Given the description of an element on the screen output the (x, y) to click on. 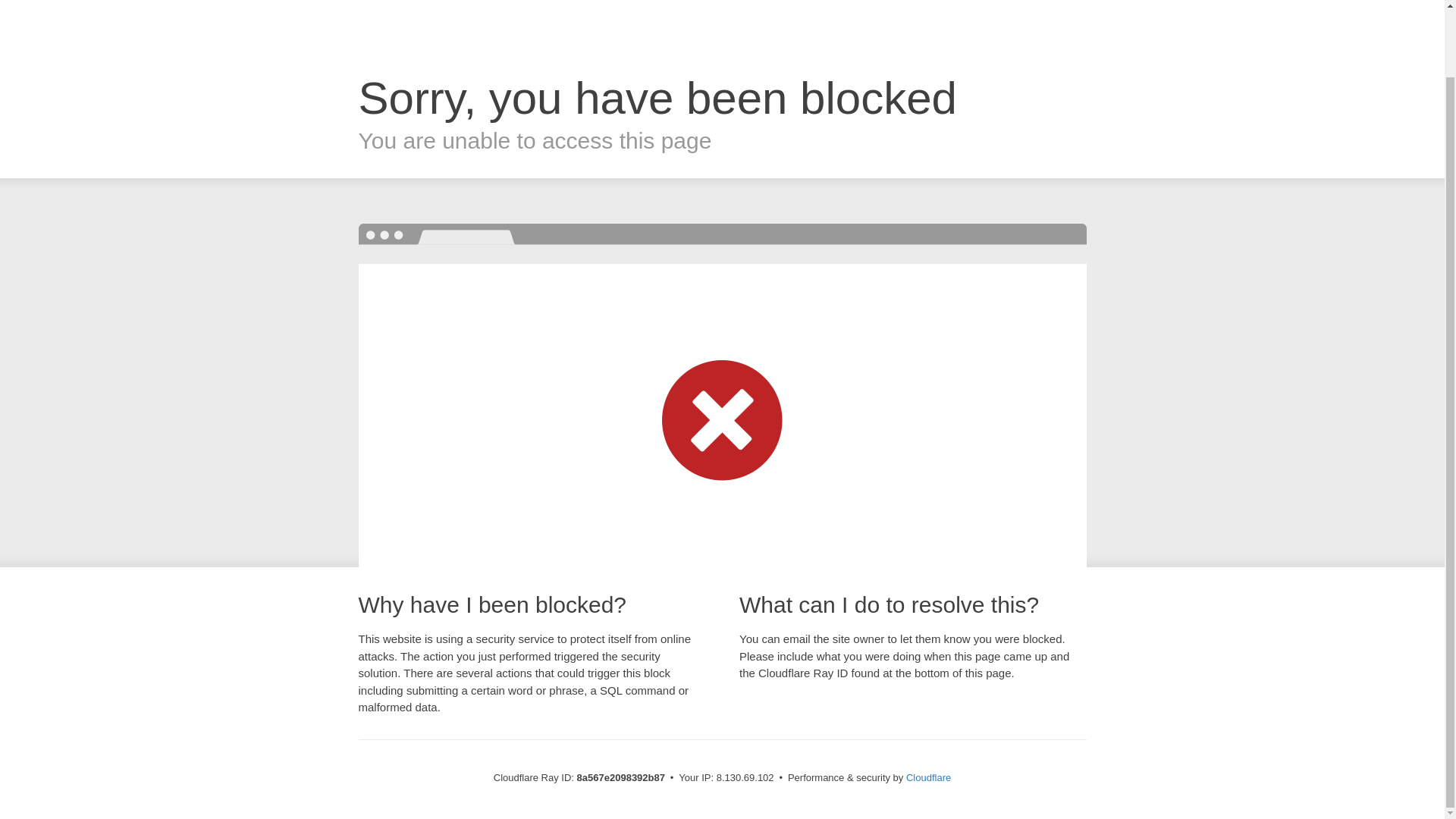
Cloudflare (927, 777)
